Given the description of an element on the screen output the (x, y) to click on. 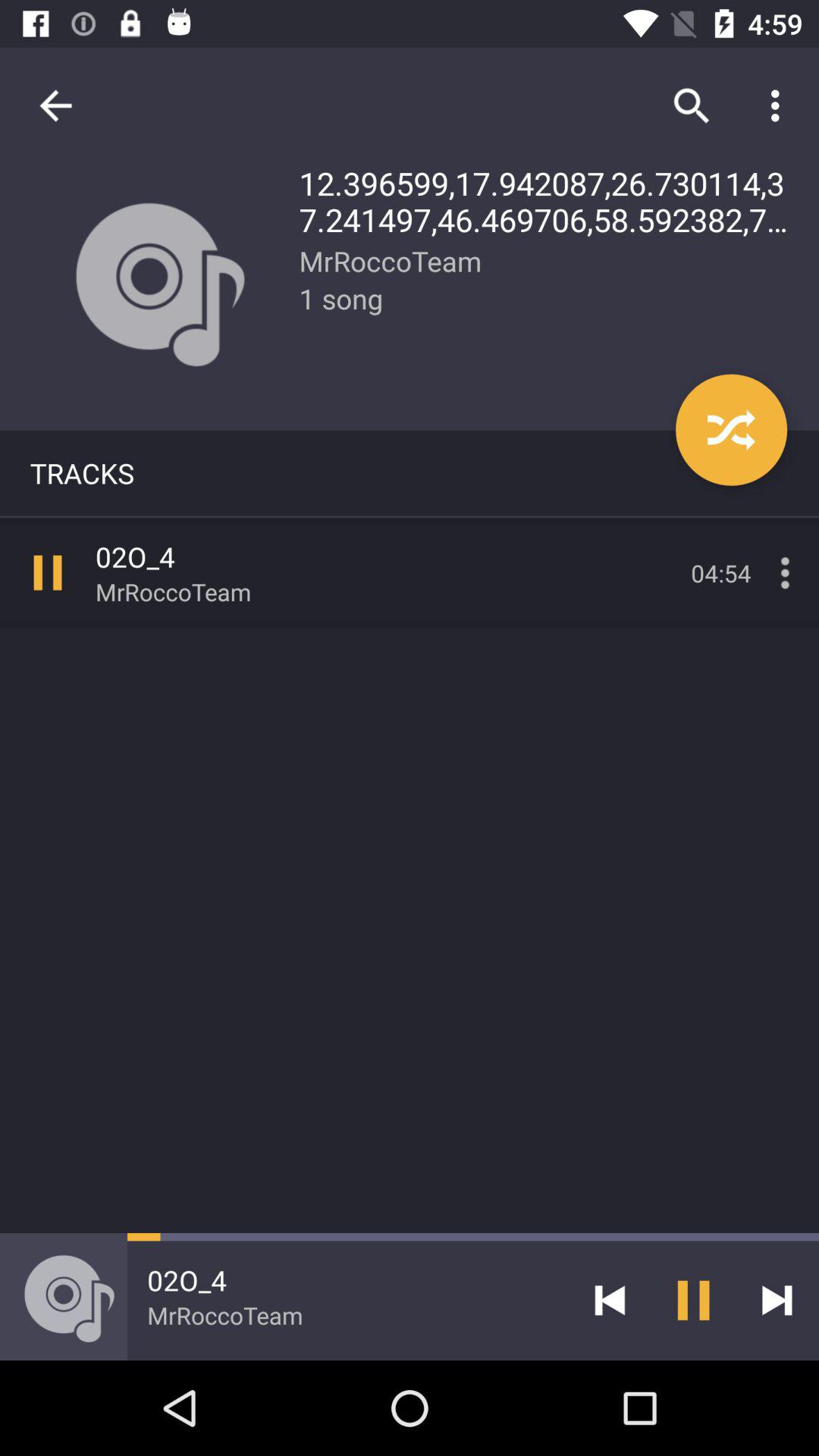
select icon above the 12 396599 17 item (779, 105)
